Given the description of an element on the screen output the (x, y) to click on. 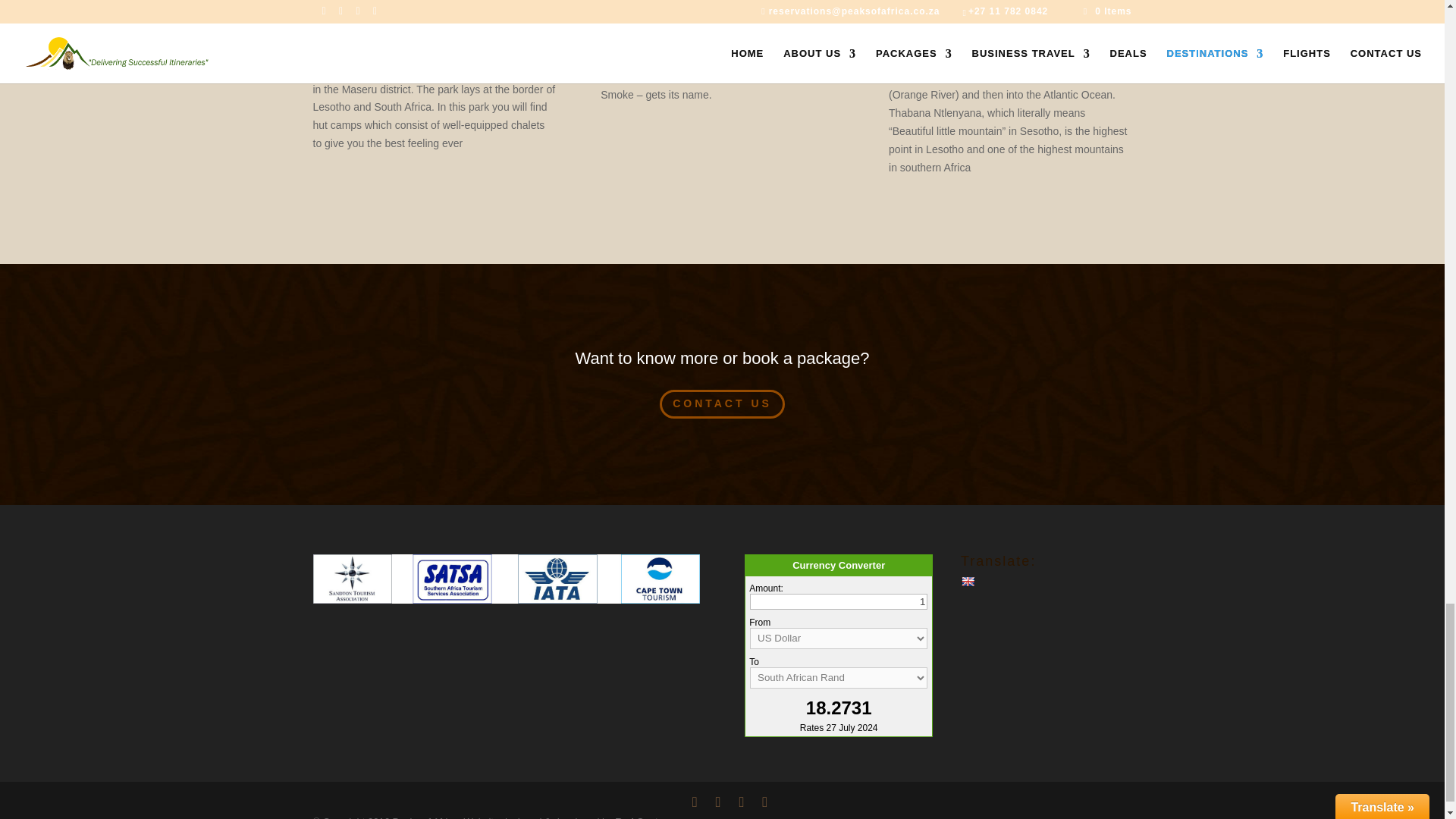
1 (838, 601)
English (967, 581)
